Given the description of an element on the screen output the (x, y) to click on. 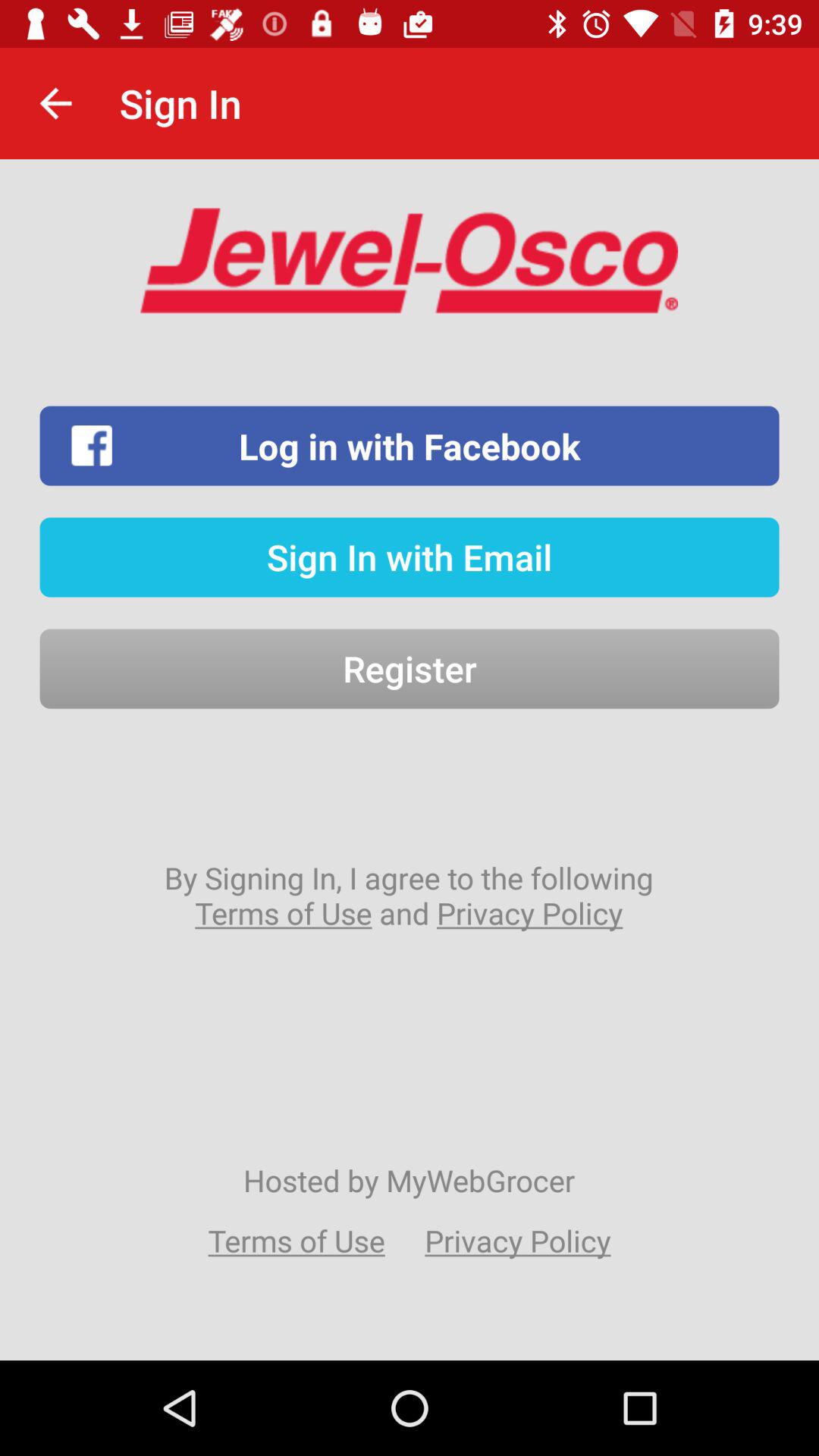
select item above log in with (55, 103)
